Given the description of an element on the screen output the (x, y) to click on. 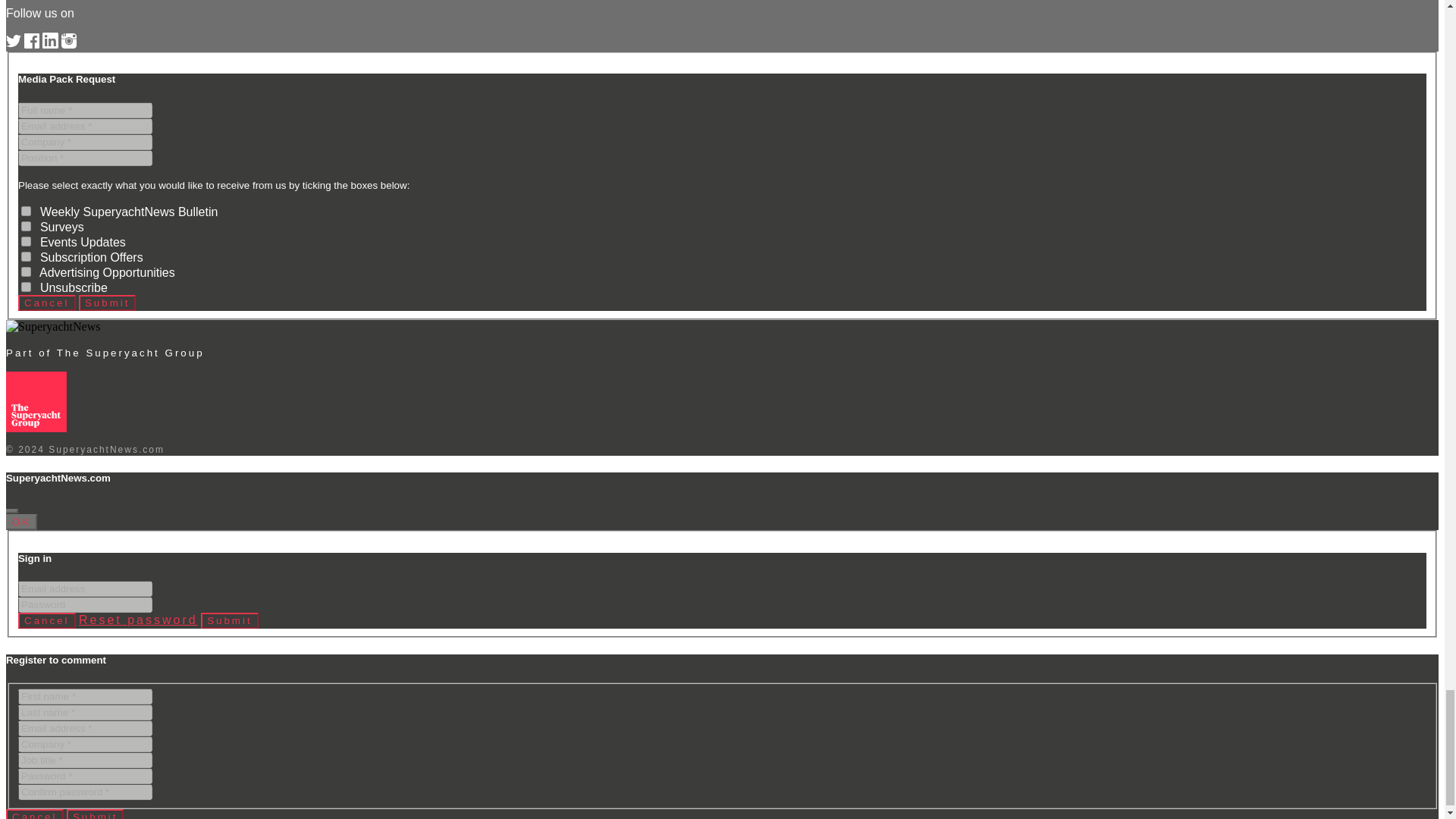
events (25, 241)
subscriptions (25, 256)
advertising (25, 271)
newsletter (25, 211)
surveys (25, 225)
optout-all (25, 286)
